Given the description of an element on the screen output the (x, y) to click on. 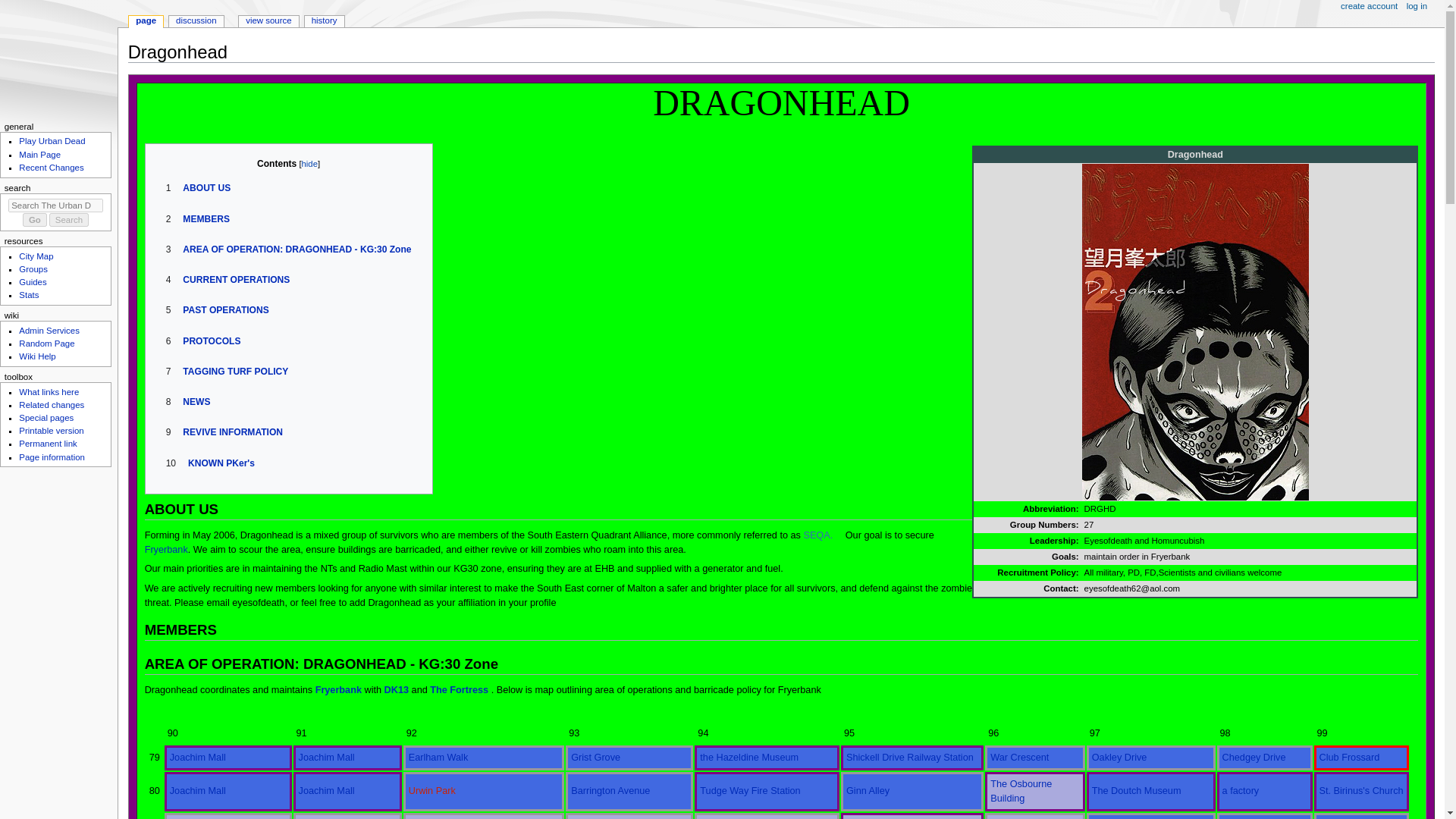
Joachim Mall (197, 757)
The Fortress (458, 689)
Fryerbank (338, 689)
DK13 (396, 689)
The Fortress (458, 689)
4 CURRENT OPERATIONS (228, 279)
SEQA. (823, 534)
Go (34, 219)
Joachim Mall (326, 757)
Oakley Drive (1119, 757)
